Given the description of an element on the screen output the (x, y) to click on. 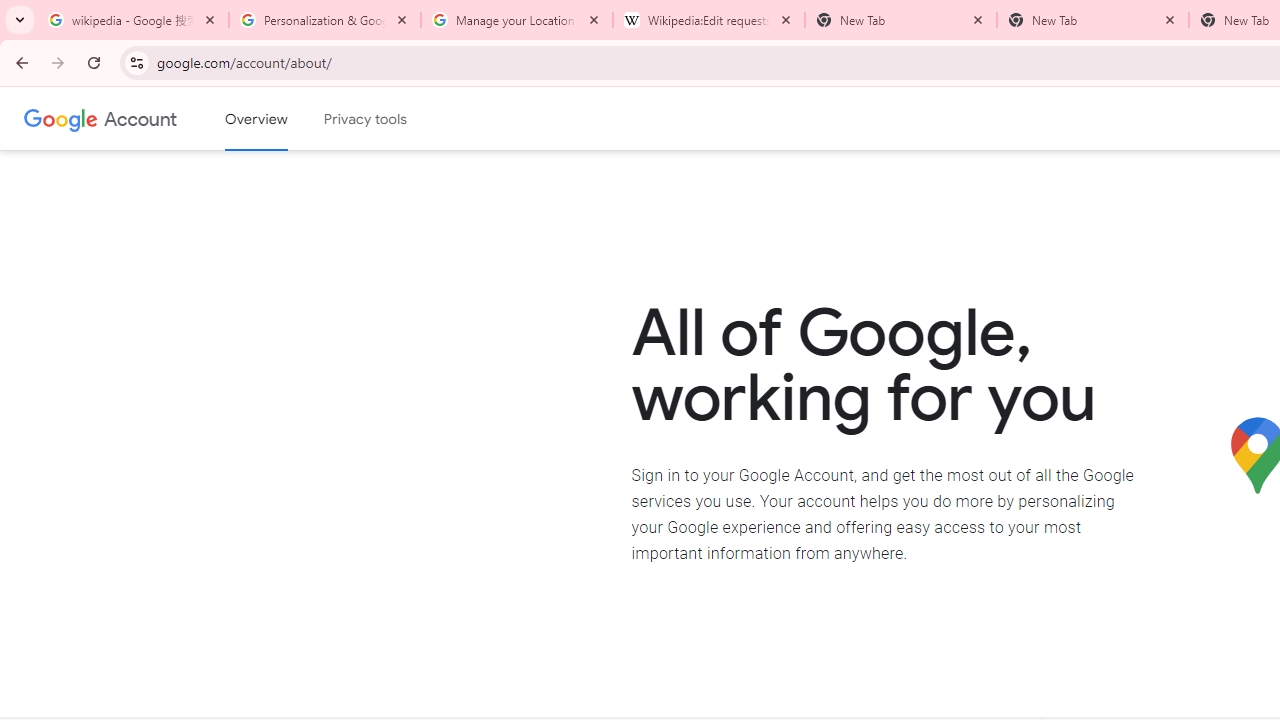
Google Account (140, 118)
Privacy tools (365, 119)
Wikipedia:Edit requests - Wikipedia (709, 20)
Manage your Location History - Google Search Help (517, 20)
Google Account overview (256, 119)
